Given the description of an element on the screen output the (x, y) to click on. 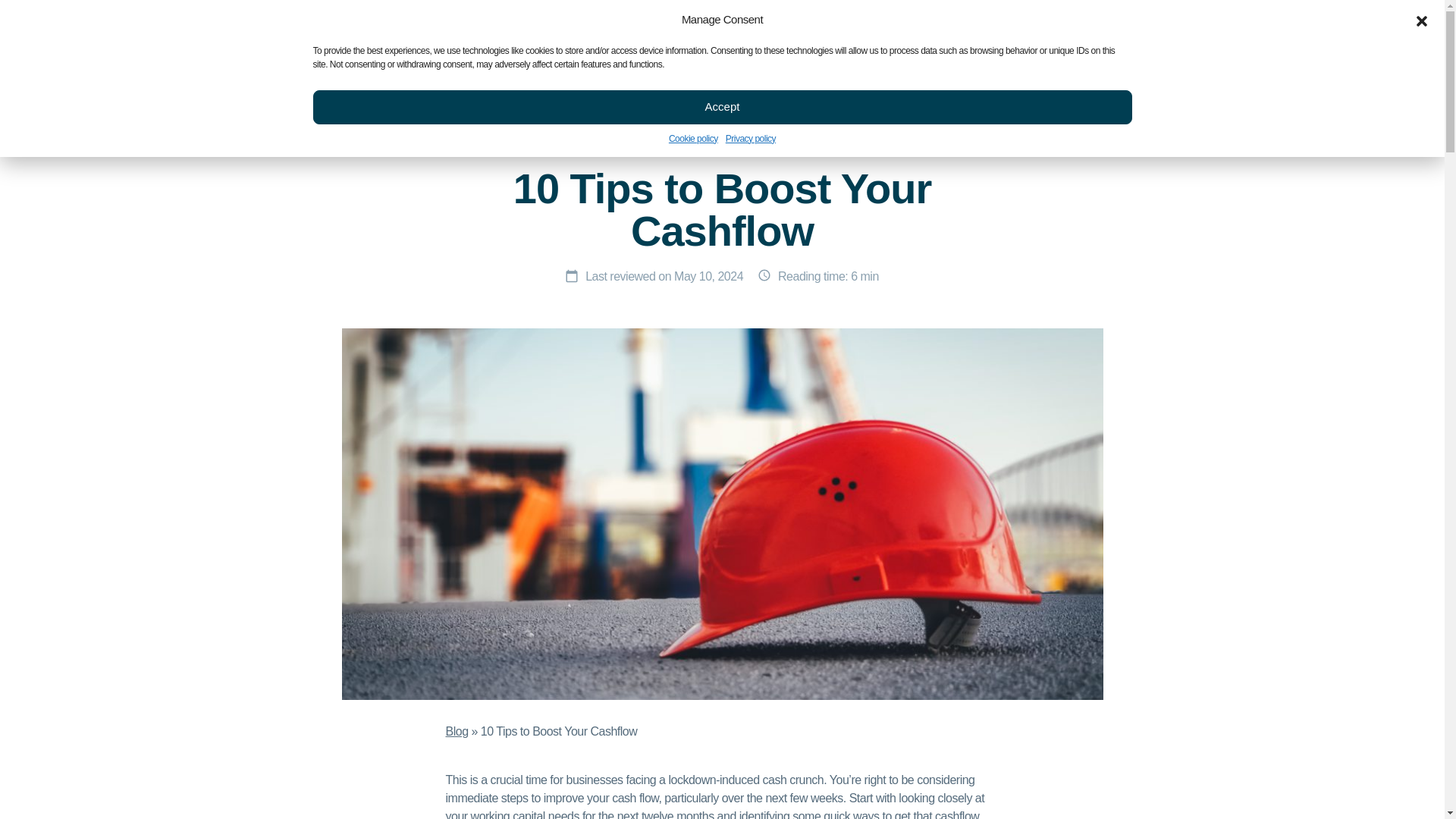
For brokers (449, 20)
Accept (722, 106)
For franchises (536, 20)
Services (400, 86)
For bookkeepers (638, 20)
Logo (292, 86)
Services (400, 86)
For franchises (536, 20)
For brokers (449, 20)
Privacy policy (750, 138)
